Given the description of an element on the screen output the (x, y) to click on. 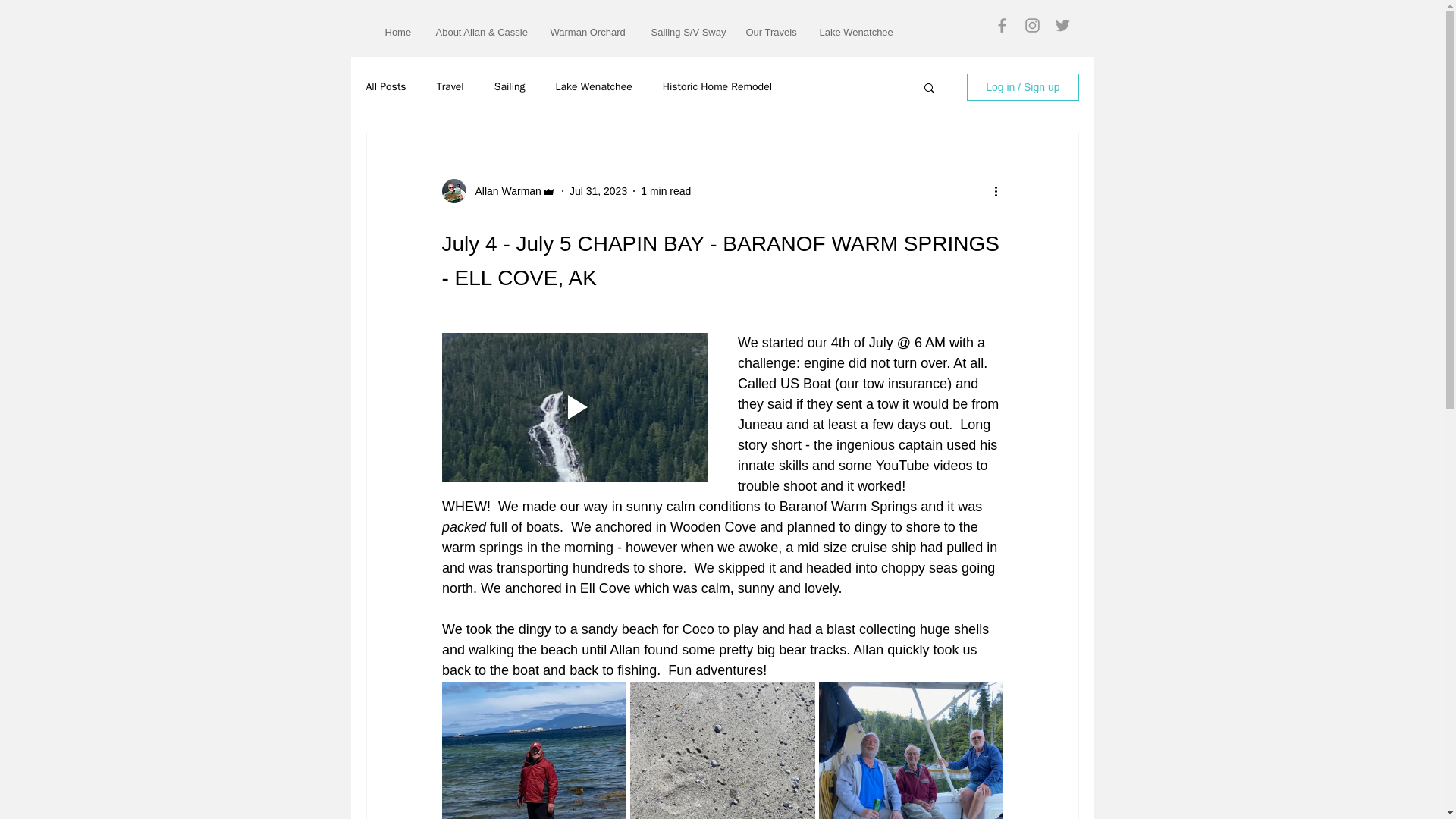
All Posts (385, 87)
Jul 31, 2023 (598, 191)
Travel (450, 87)
1 min read (665, 191)
Lake Wenatchee (593, 87)
Allan Warman (502, 191)
Lake Wenatchee (856, 32)
Our Travels (770, 32)
Warman Orchard (588, 32)
Sailing (510, 87)
